Given the description of an element on the screen output the (x, y) to click on. 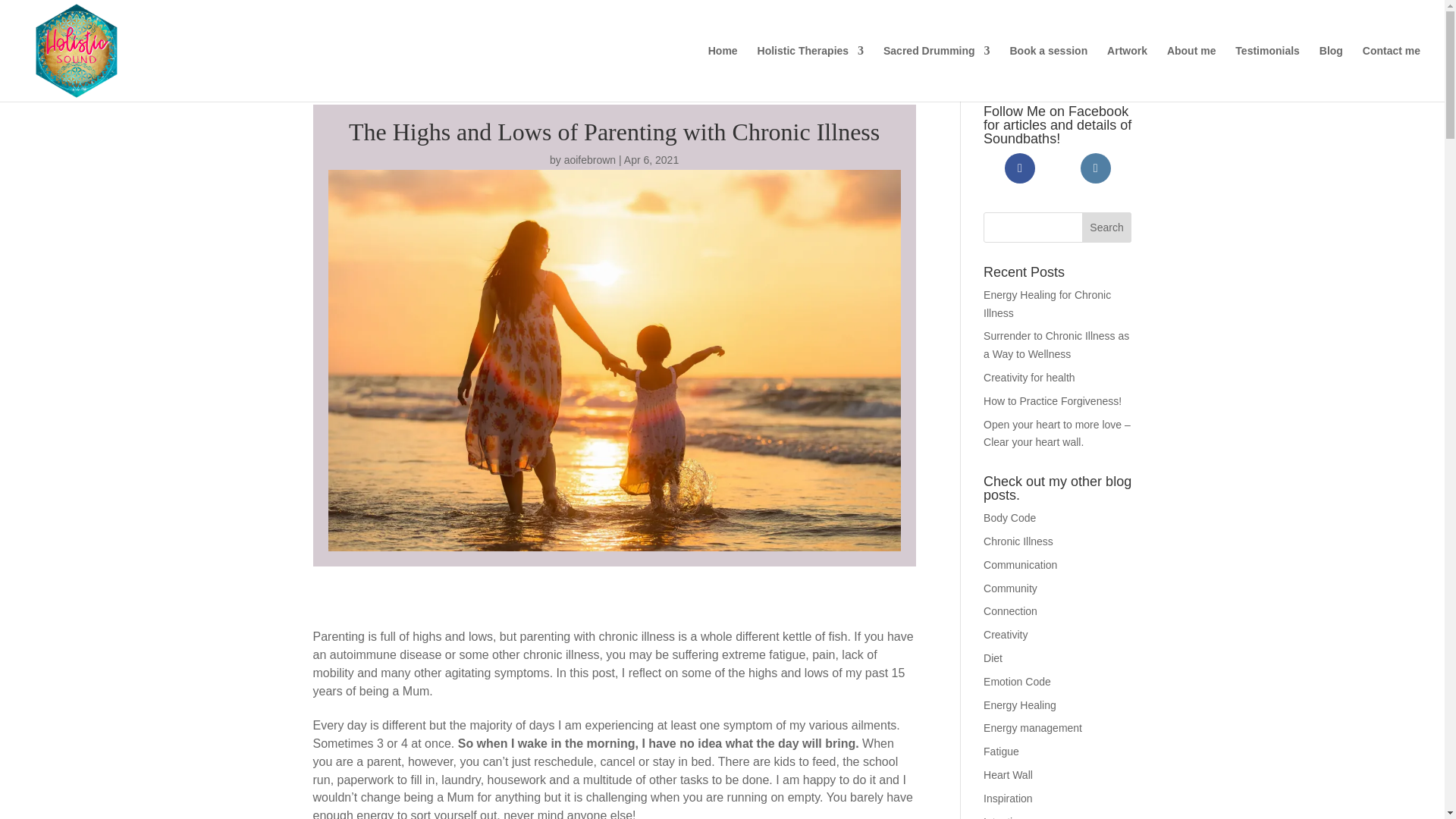
Testimonials (1267, 73)
Sacred Drumming (936, 73)
Holistic Therapies (810, 73)
Search (1106, 227)
Posts by aoifebrown (589, 159)
Surrender to Chronic Illness as a Way to Wellness (1056, 345)
Search (1106, 227)
Contact me (1391, 73)
Energy Healing for Chronic Illness (1047, 304)
aoifebrown (589, 159)
